Given the description of an element on the screen output the (x, y) to click on. 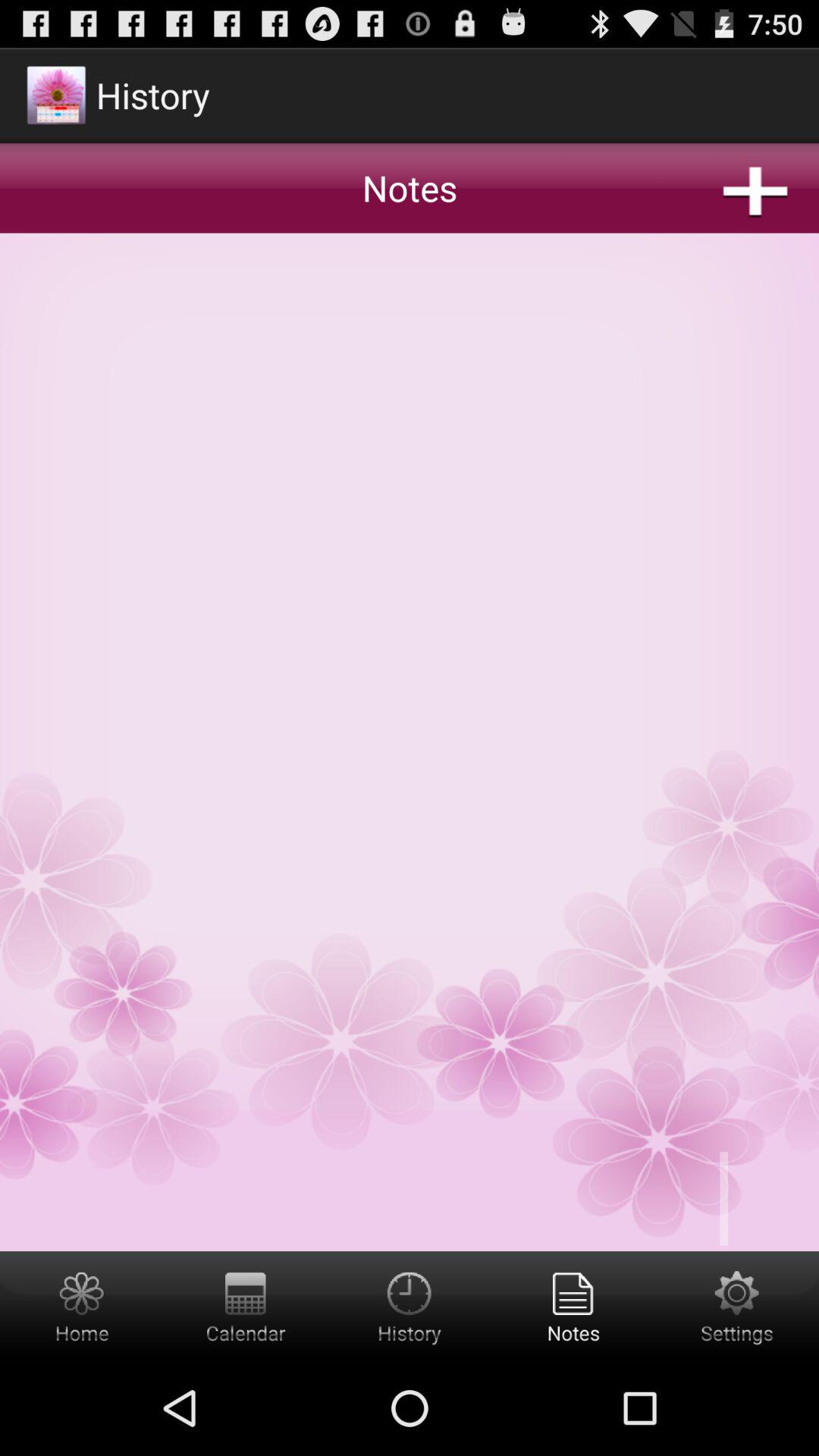
view history (409, 1305)
